Given the description of an element on the screen output the (x, y) to click on. 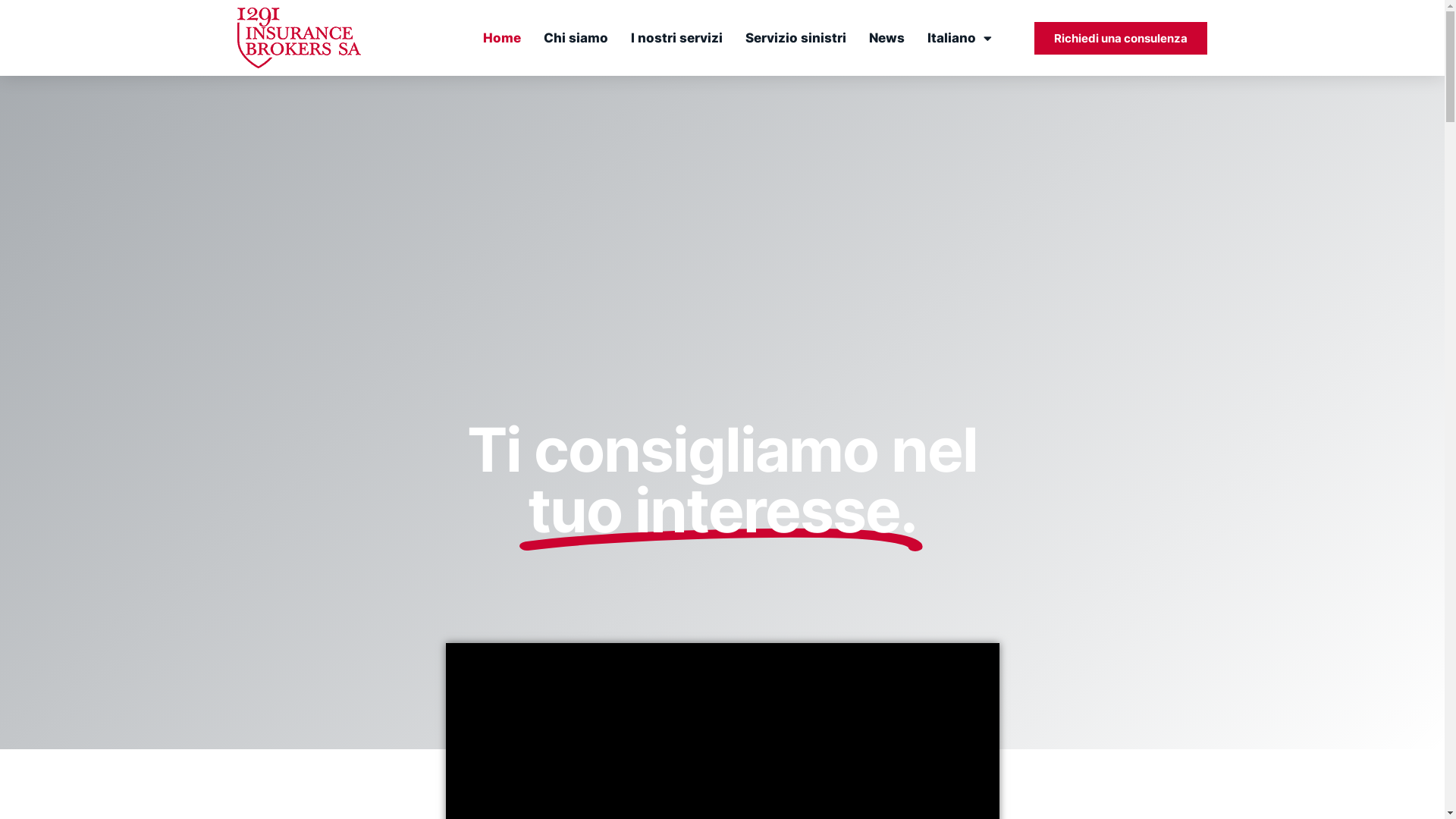
Italiano Element type: text (959, 37)
1291-I-B_logo Element type: hover (298, 37)
I nostri servizi Element type: text (676, 37)
News Element type: text (886, 37)
Richiedi una consulenza Element type: text (1120, 37)
Chi siamo Element type: text (575, 37)
Home Element type: text (501, 37)
Servizio sinistri Element type: text (795, 37)
